Given the description of an element on the screen output the (x, y) to click on. 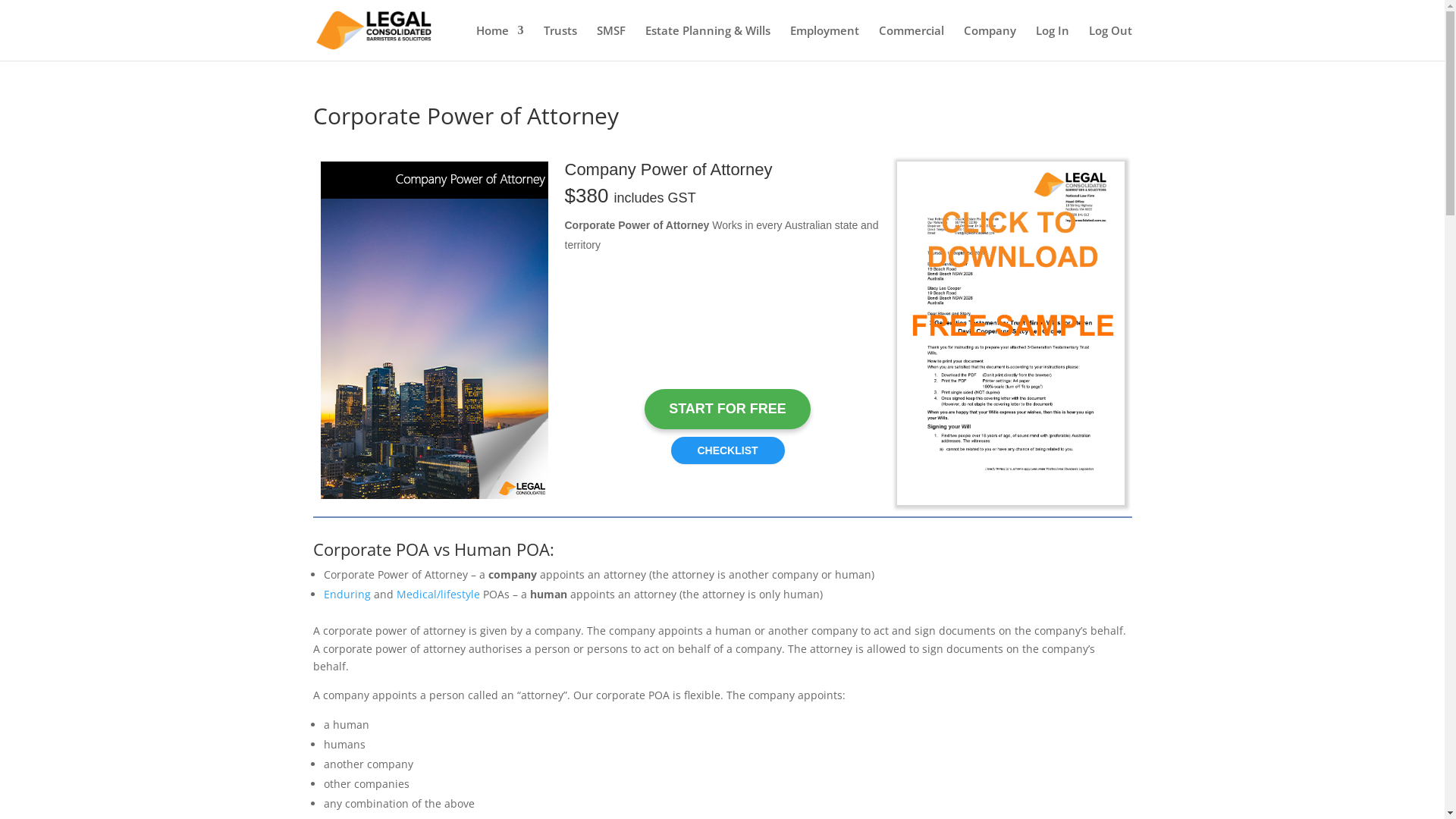
SMSF Element type: text (610, 42)
Log Out Element type: text (1110, 42)
Log In Element type: text (1052, 42)
Enduring Element type: text (346, 593)
Commercial Element type: text (910, 42)
Estate Planning & Wills Element type: text (706, 42)
Trusts Element type: text (559, 42)
CHECKLIST Element type: text (727, 450)
Home Element type: text (500, 42)
START FOR FREE Element type: text (727, 409)
Medical/lifestyle Element type: text (437, 593)
Company Element type: text (989, 42)
START FOR FREE Element type: text (727, 409)
CHECKLIST Element type: text (727, 446)
Employment Element type: text (824, 42)
